Given the description of an element on the screen output the (x, y) to click on. 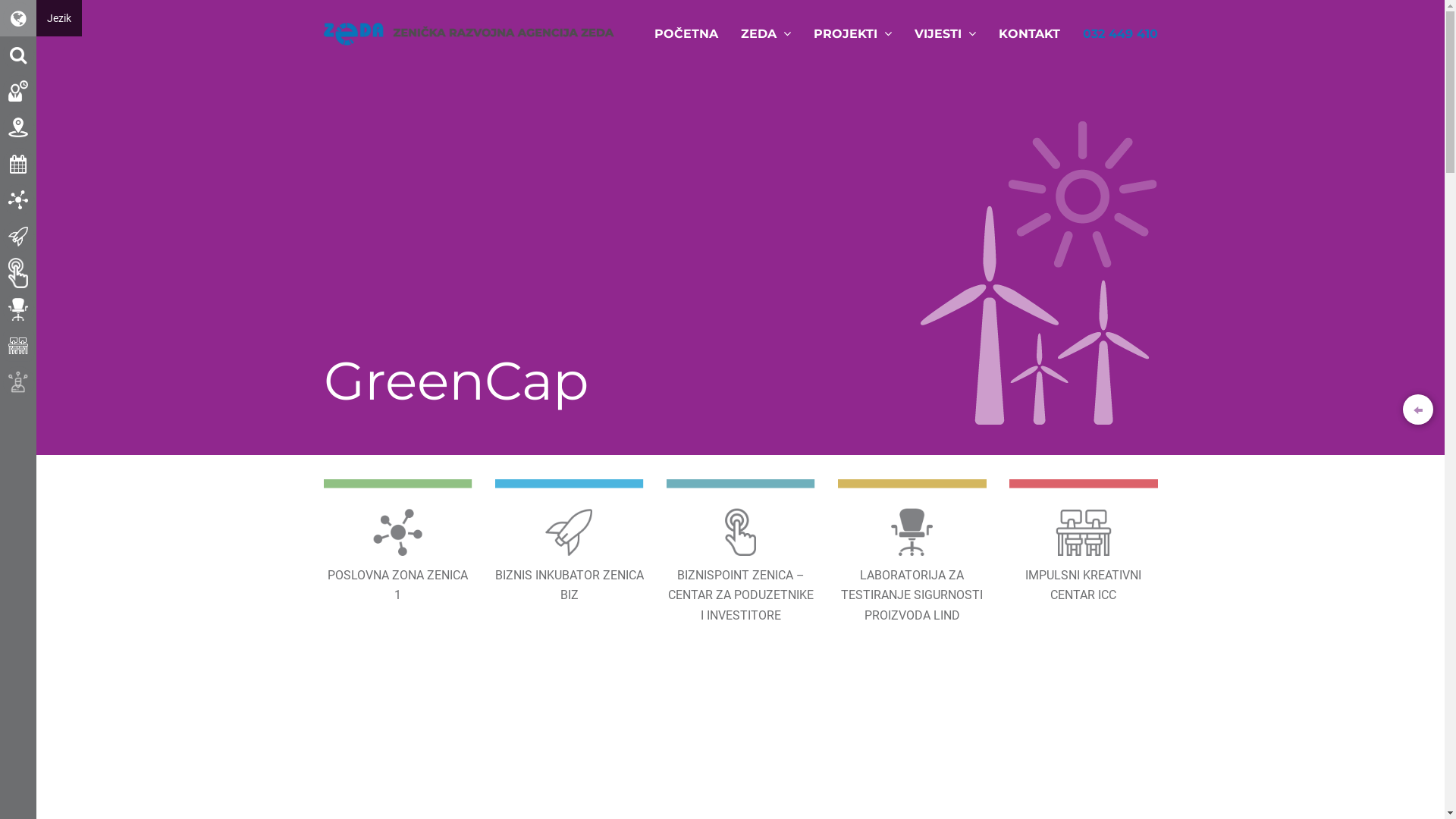
PROJEKTI Element type: text (852, 34)
BIZNIS INKUBATOR ZENICA BIZ Element type: text (568, 542)
LABORATORIJA ZA TESTIRANJE SIGURNOSTI PROIZVODA LIND Element type: text (911, 552)
VIJESTI Element type: text (944, 34)
POSLOVNA ZONA ZENICA 1 Element type: text (397, 542)
032 449 410 Element type: text (1119, 34)
KONTAKT Element type: text (1029, 34)
IMPULSNI KREATIVNI CENTAR ICC Element type: text (1082, 542)
ZEDA Element type: text (765, 34)
